Given the description of an element on the screen output the (x, y) to click on. 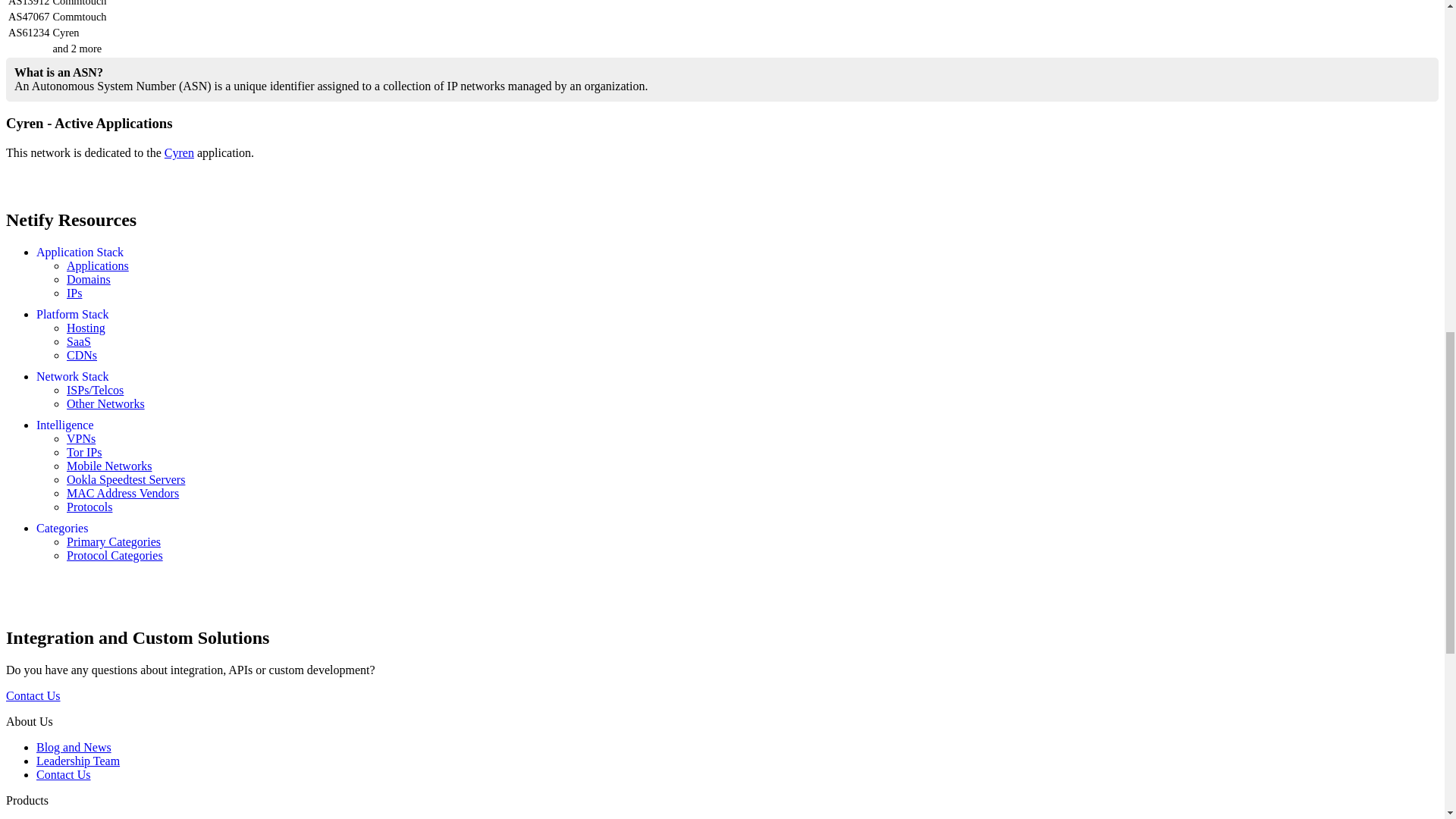
Other Networks (105, 403)
Mobile Networks (108, 465)
Cyren (178, 152)
Intelligence (65, 424)
Application Stack (79, 251)
Ookla Speedtest Servers (125, 479)
Leadership Team (77, 760)
Network Stack (72, 376)
Applications (97, 265)
Hosting (85, 327)
